Given the description of an element on the screen output the (x, y) to click on. 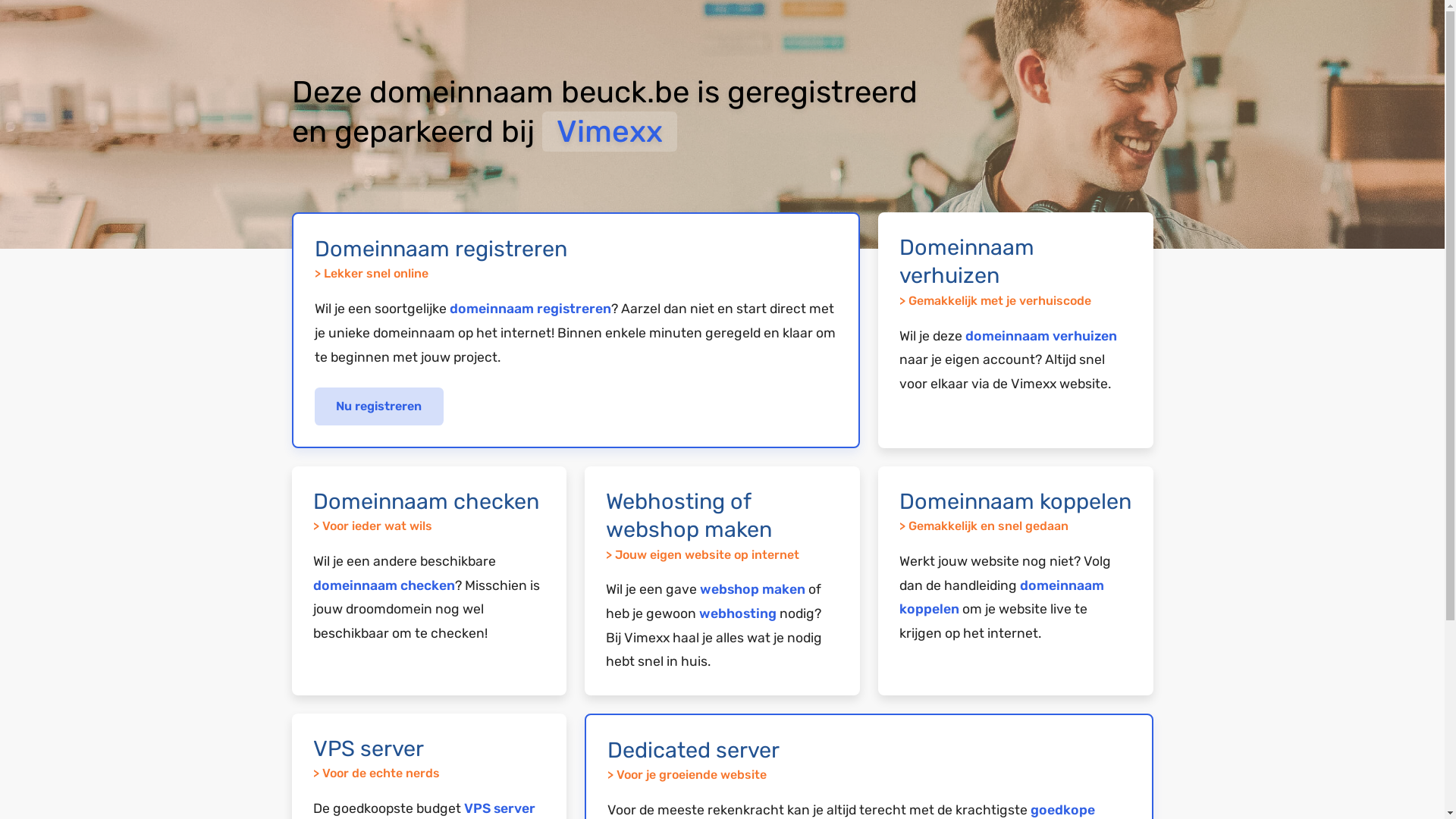
Vimexx Element type: text (608, 131)
domeinnaam verhuizen Element type: text (1041, 335)
Nu registreren Element type: text (378, 406)
VPS server Element type: text (499, 807)
domeinnaam koppelen Element type: text (1001, 597)
webshop maken Element type: text (752, 588)
domeinnaam registreren Element type: text (529, 308)
webhosting Element type: text (737, 613)
domeinnaam checken Element type: text (383, 585)
